Given the description of an element on the screen output the (x, y) to click on. 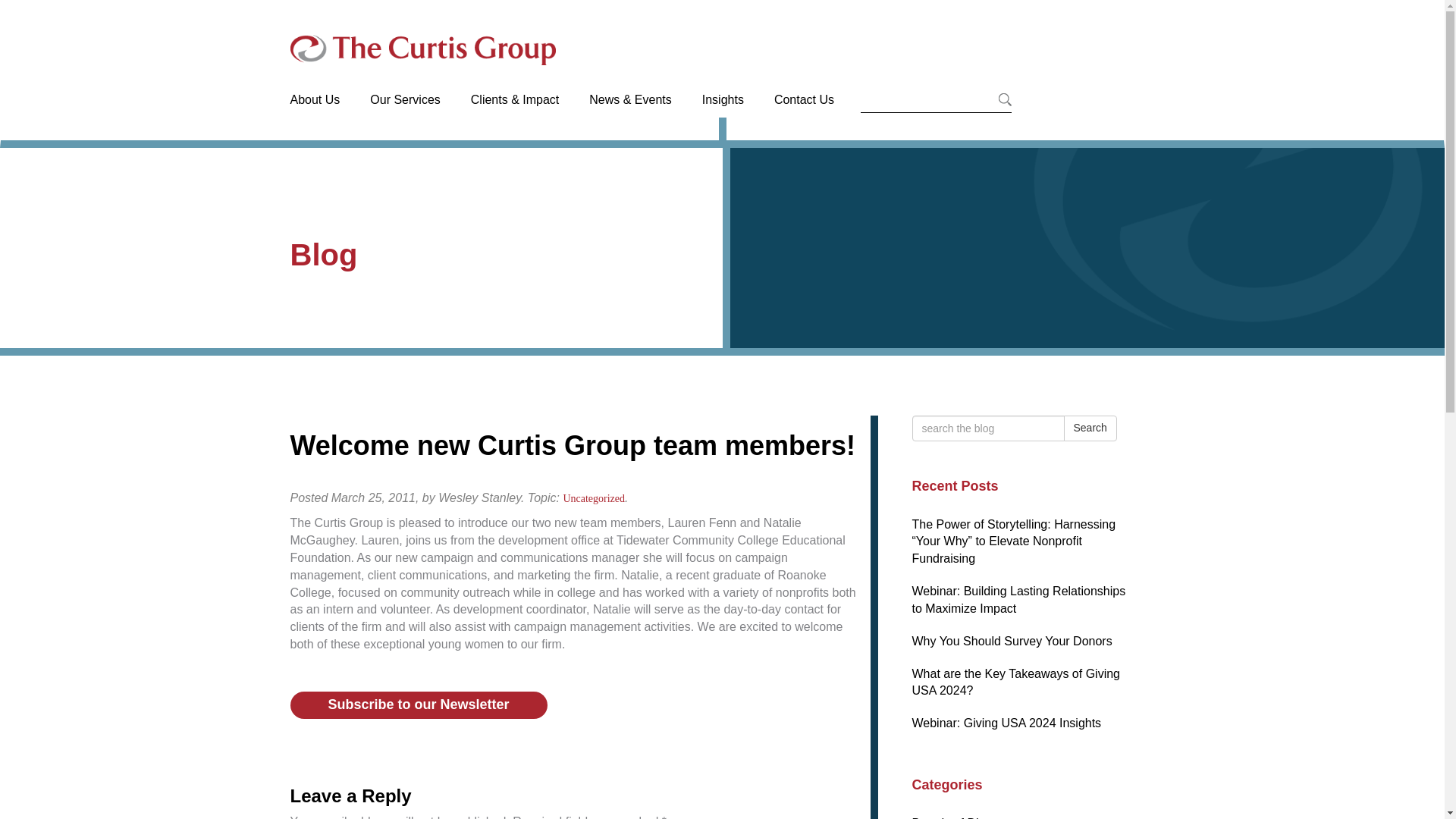
Webinar: Building Lasting Relationships to Maximize Impact (1018, 599)
Our Services (404, 114)
Uncategorized (593, 498)
What are the Key Takeaways of Giving USA 2024? (1015, 682)
Boards of Directors (962, 817)
Insights (722, 114)
About Us (322, 114)
Search (1089, 428)
Subscribe to our Newsletter (418, 705)
Contact Us (803, 114)
